Given the description of an element on the screen output the (x, y) to click on. 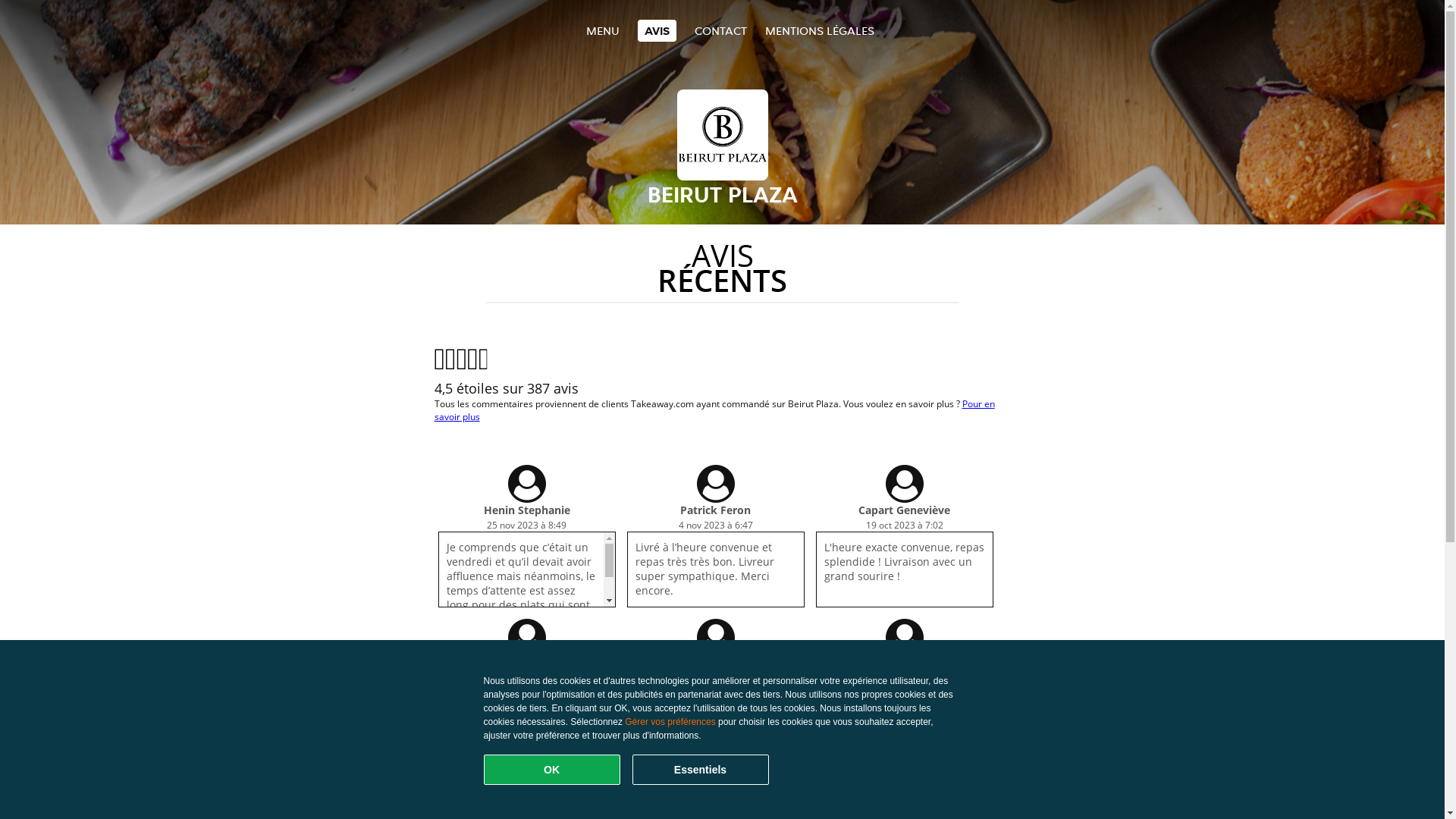
AVIS Element type: text (656, 30)
Pour en savoir plus Element type: text (713, 410)
CONTACT Element type: text (720, 30)
MENU Element type: text (601, 30)
OK Element type: text (551, 769)
Essentiels Element type: text (700, 769)
